Given the description of an element on the screen output the (x, y) to click on. 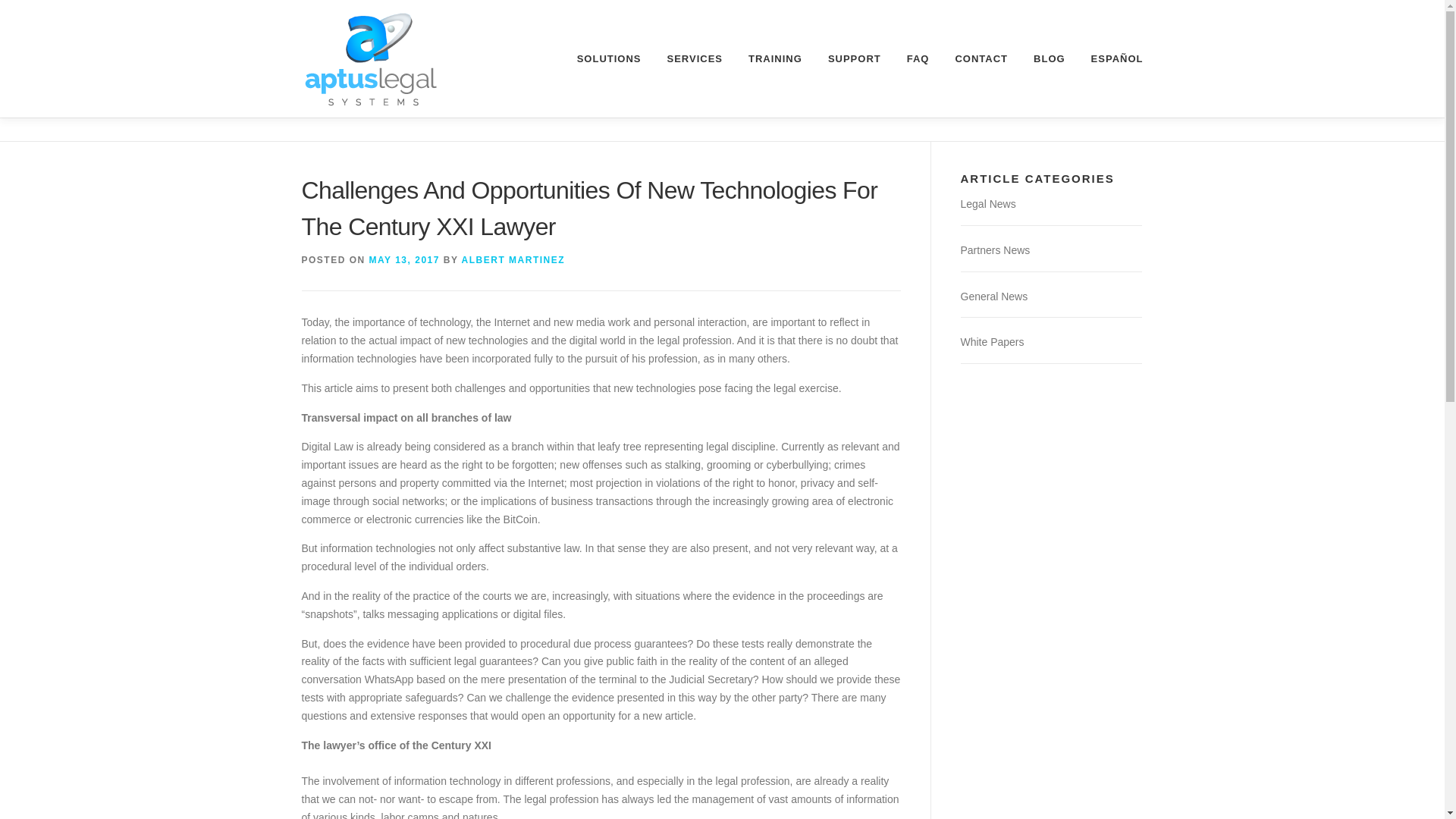
White Papers (991, 341)
MAY 13, 2017 (404, 259)
Legal News (986, 203)
General News (993, 296)
Aptus Legal Systems Logo (371, 58)
ALBERT MARTINEZ (513, 259)
Partners News (994, 250)
